Given the description of an element on the screen output the (x, y) to click on. 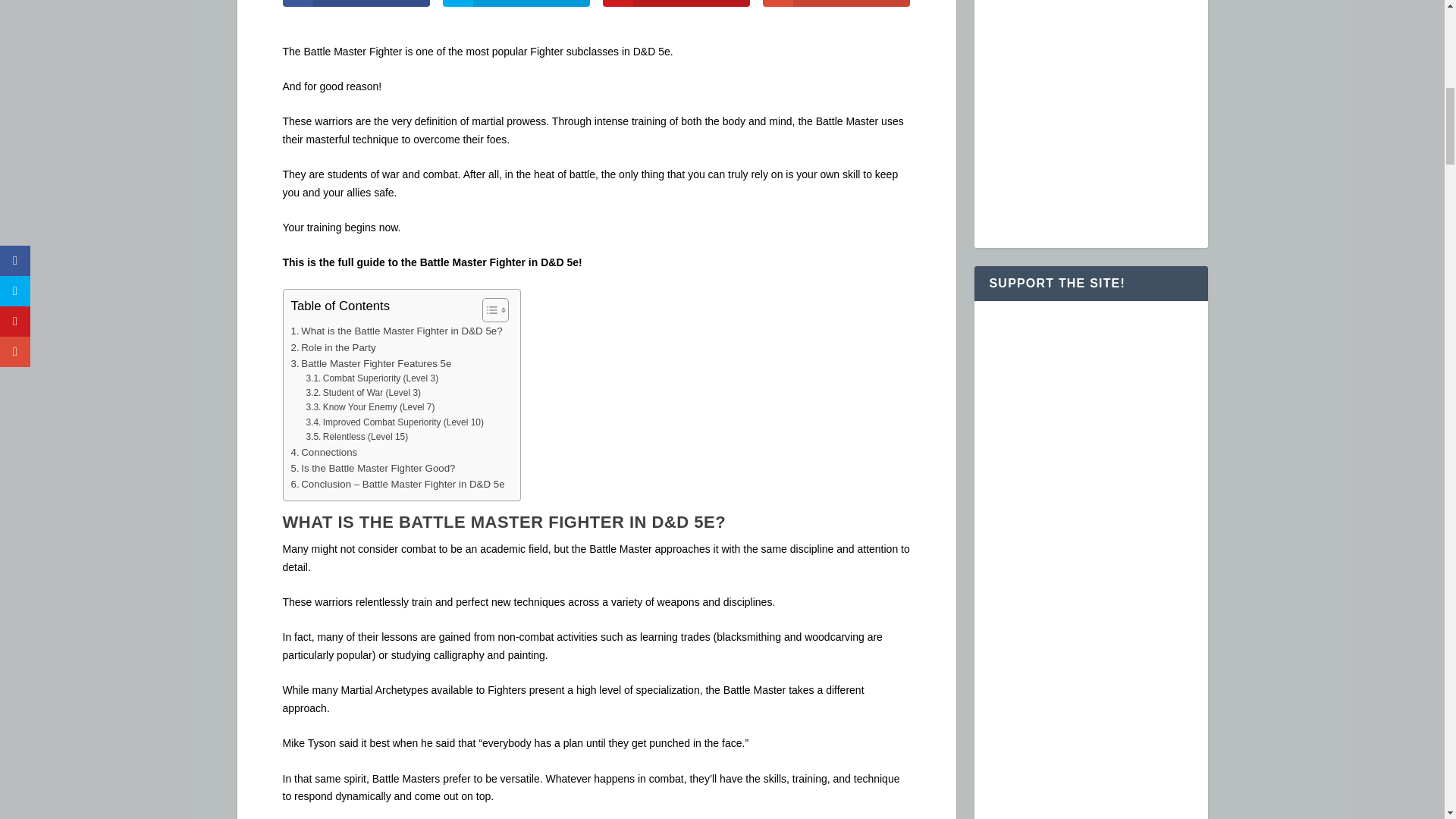
Gmail (836, 3)
Role in the Party (333, 347)
Connections (324, 452)
Twitter (516, 3)
Pinterest (676, 3)
Battle Master Fighter Features 5e (371, 363)
Facebook (355, 3)
Is the Battle Master Fighter Good? (373, 467)
